Given the description of an element on the screen output the (x, y) to click on. 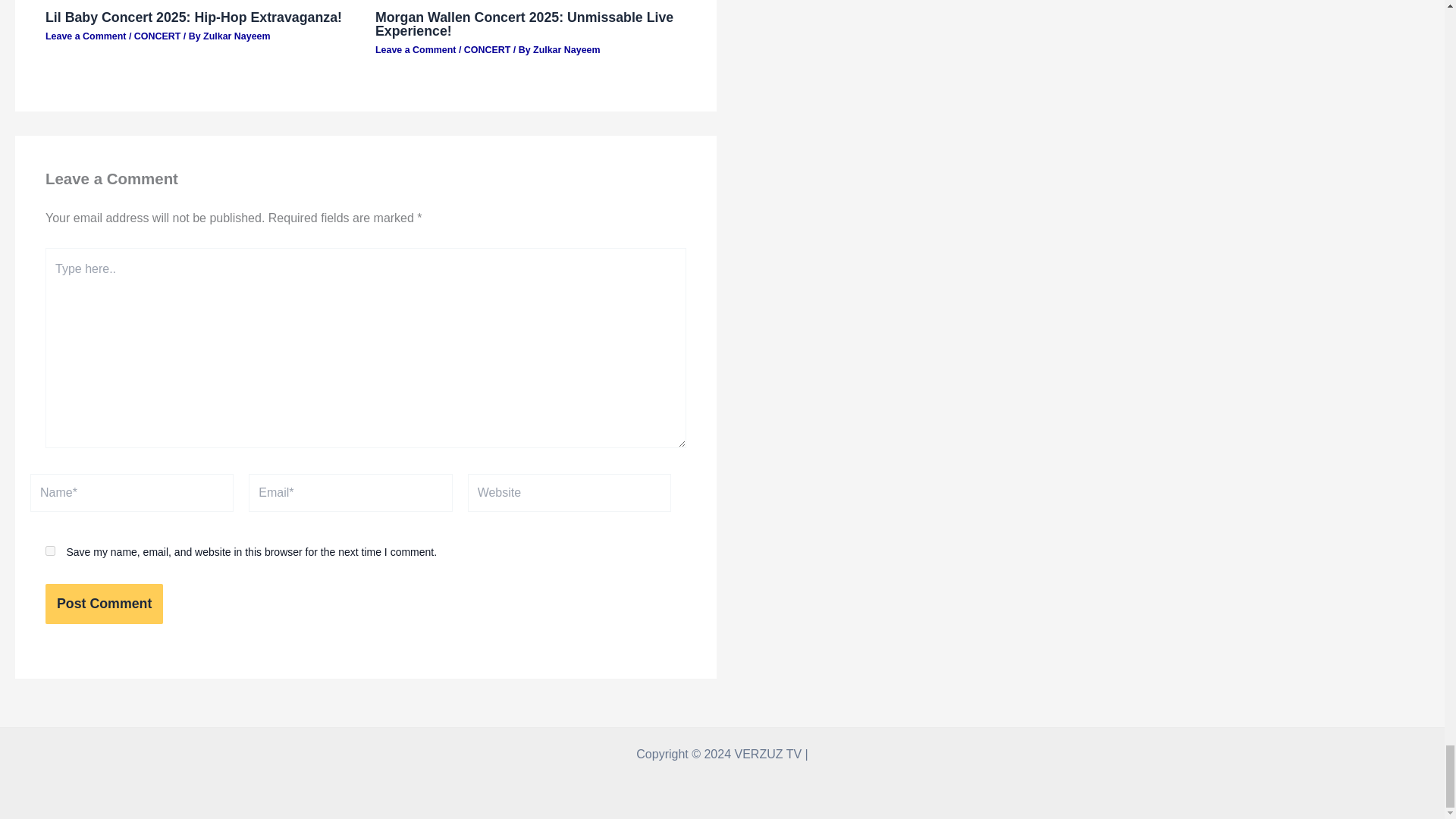
Zulkar Nayeem (236, 36)
Post Comment (104, 603)
Lil Baby Concert 2025: Hip-Hop Extravaganza! (193, 17)
View all posts by Zulkar Nayeem (236, 36)
Post Comment (104, 603)
Leave a Comment (415, 50)
CONCERT (487, 50)
Zulkar Nayeem (565, 50)
View all posts by Zulkar Nayeem (565, 50)
yes (50, 551)
